Given the description of an element on the screen output the (x, y) to click on. 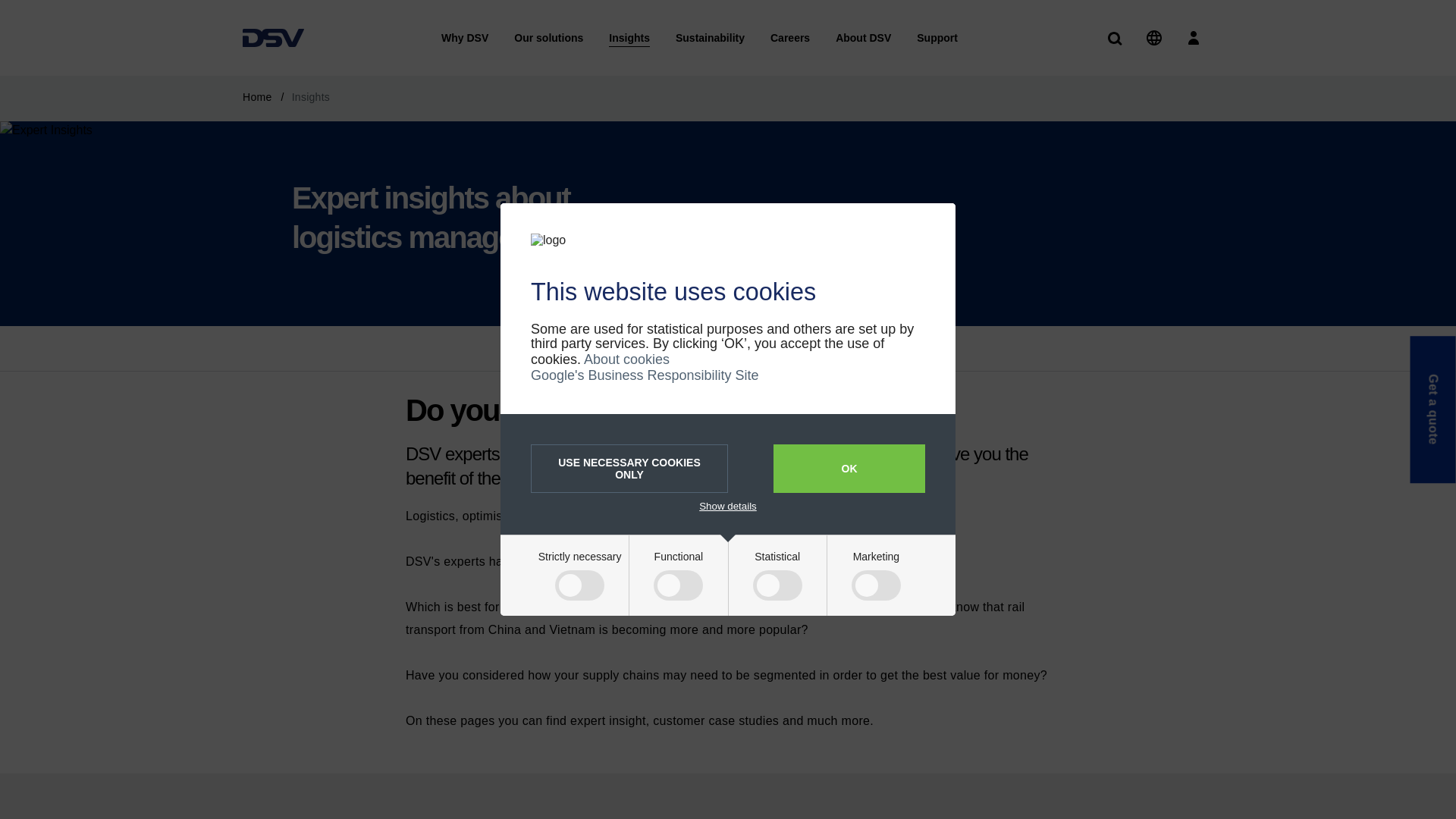
Google's Business Responsibility Site (644, 375)
OK (848, 468)
Show details (727, 505)
USE NECESSARY COOKIES ONLY (629, 468)
About cookies (626, 359)
